Given the description of an element on the screen output the (x, y) to click on. 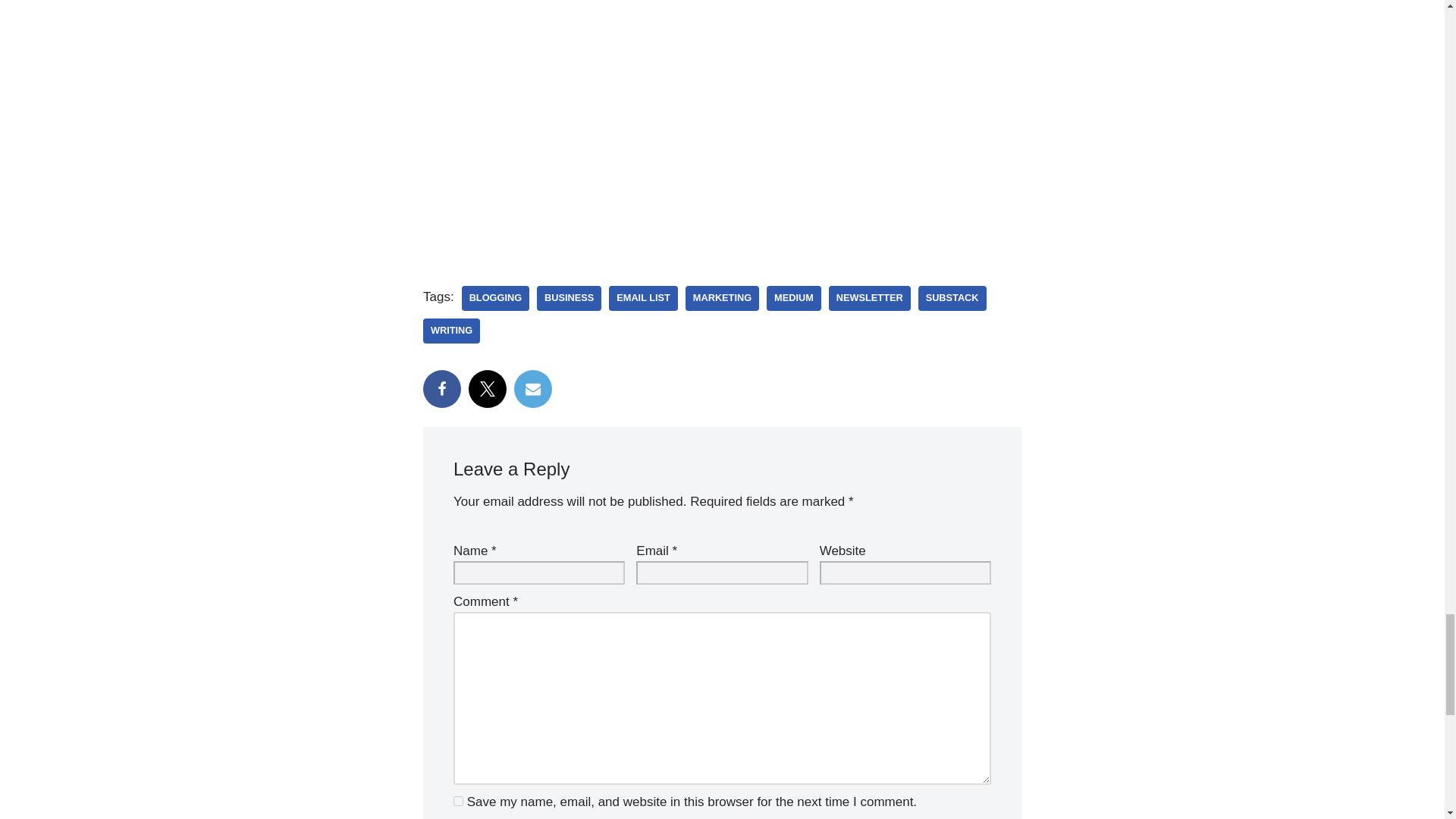
Medium (794, 298)
MARKETING (721, 298)
yes (457, 800)
X (487, 388)
Business (569, 298)
NEWSLETTER (869, 298)
SUBSTACK (952, 298)
Substack (952, 298)
BLOGGING (495, 298)
Writing (451, 330)
Facebook (442, 388)
Email List (643, 298)
Newsletter (869, 298)
EMAIL LIST (643, 298)
Marketing (721, 298)
